Given the description of an element on the screen output the (x, y) to click on. 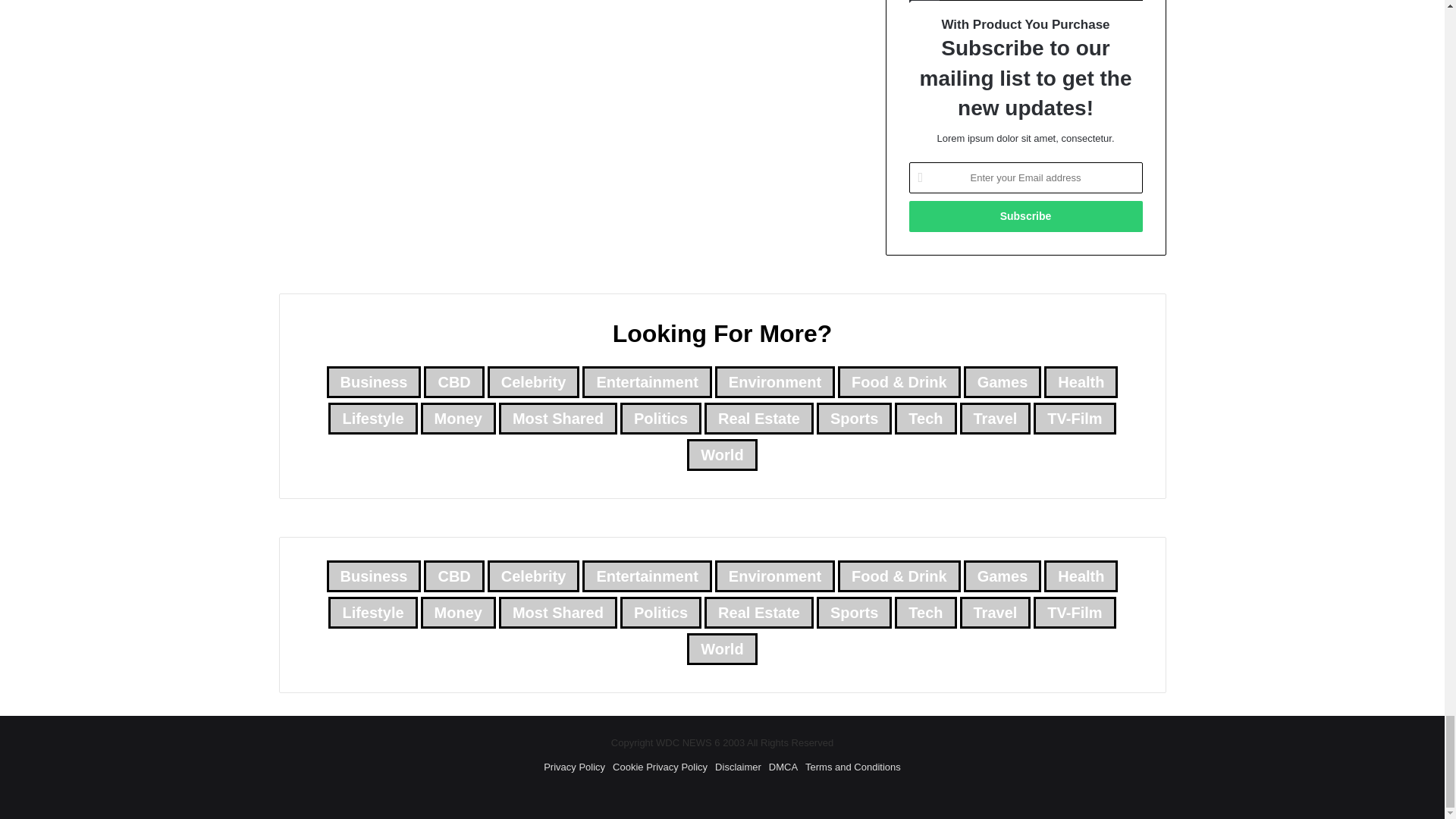
Subscribe (1025, 215)
